Given the description of an element on the screen output the (x, y) to click on. 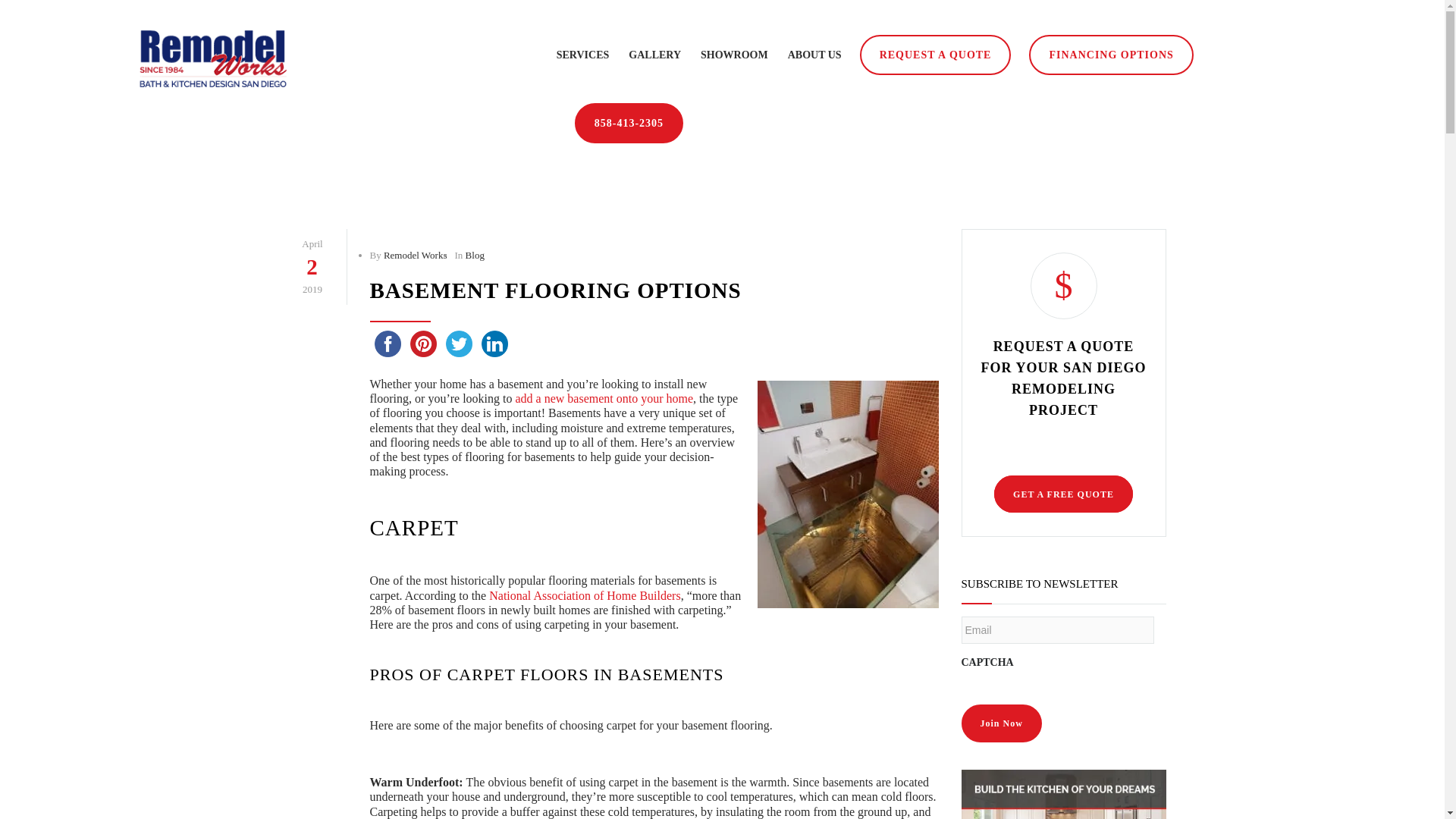
View all posts filed under Blog (474, 255)
858-413-2305 (628, 123)
Remodel Works (415, 255)
SHOWROOM (724, 46)
twitter (459, 343)
GALLERY (644, 46)
SERVICES (583, 46)
ABOUT US (804, 46)
FINANCING OPTIONS (1110, 55)
facebook (387, 343)
